Given the description of an element on the screen output the (x, y) to click on. 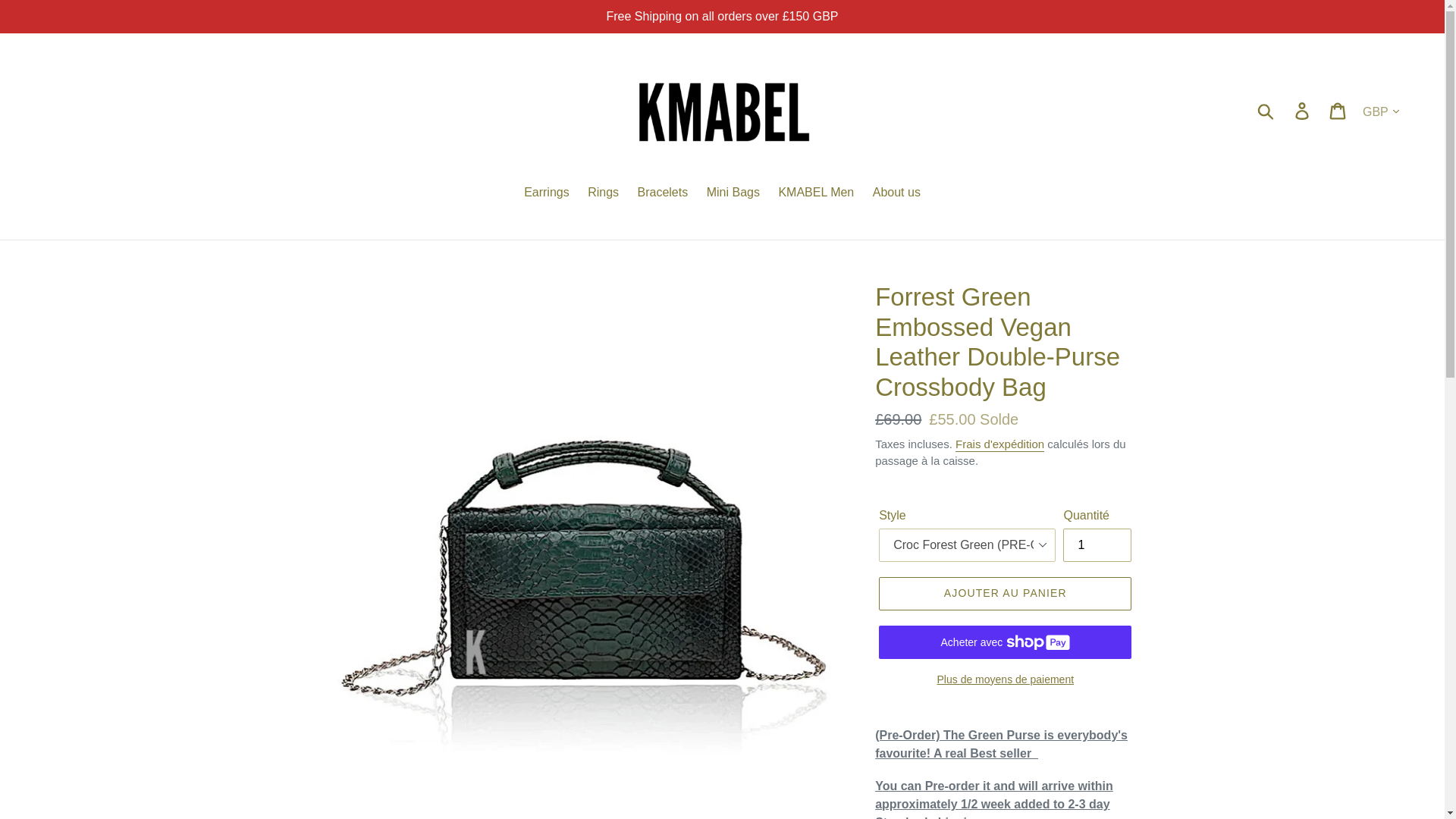
1 (1096, 544)
Se connecter (1302, 109)
AJOUTER AU PANIER (1005, 593)
Soumettre (1266, 109)
Rings (602, 193)
Bracelets (662, 193)
Earrings (546, 193)
KMABEL Men (815, 193)
Plus de moyens de paiement (1005, 679)
Panier (1338, 109)
Mini Bags (732, 193)
About us (896, 193)
